Given the description of an element on the screen output the (x, y) to click on. 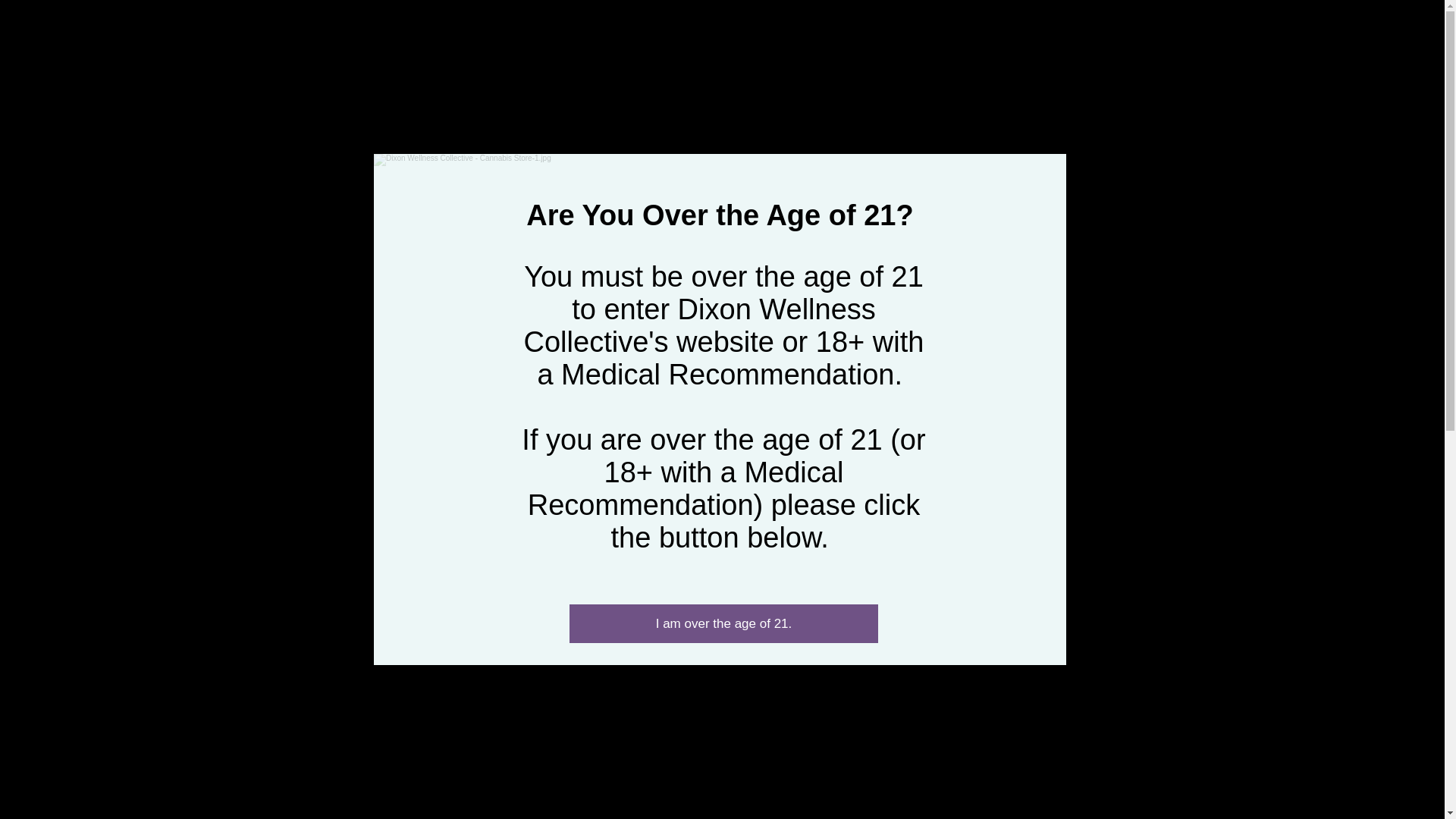
CONTACT (636, 64)
Dixon Wellness Collective (213, 50)
ABOUT (359, 64)
Common Cannabis Questions (520, 151)
1 min read (537, 253)
Sep 2, 2021 (470, 253)
ARTICLES (949, 64)
Order Online Here (1108, 64)
FAQs (494, 64)
CALENDAR (793, 64)
All Posts (388, 151)
